Given the description of an element on the screen output the (x, y) to click on. 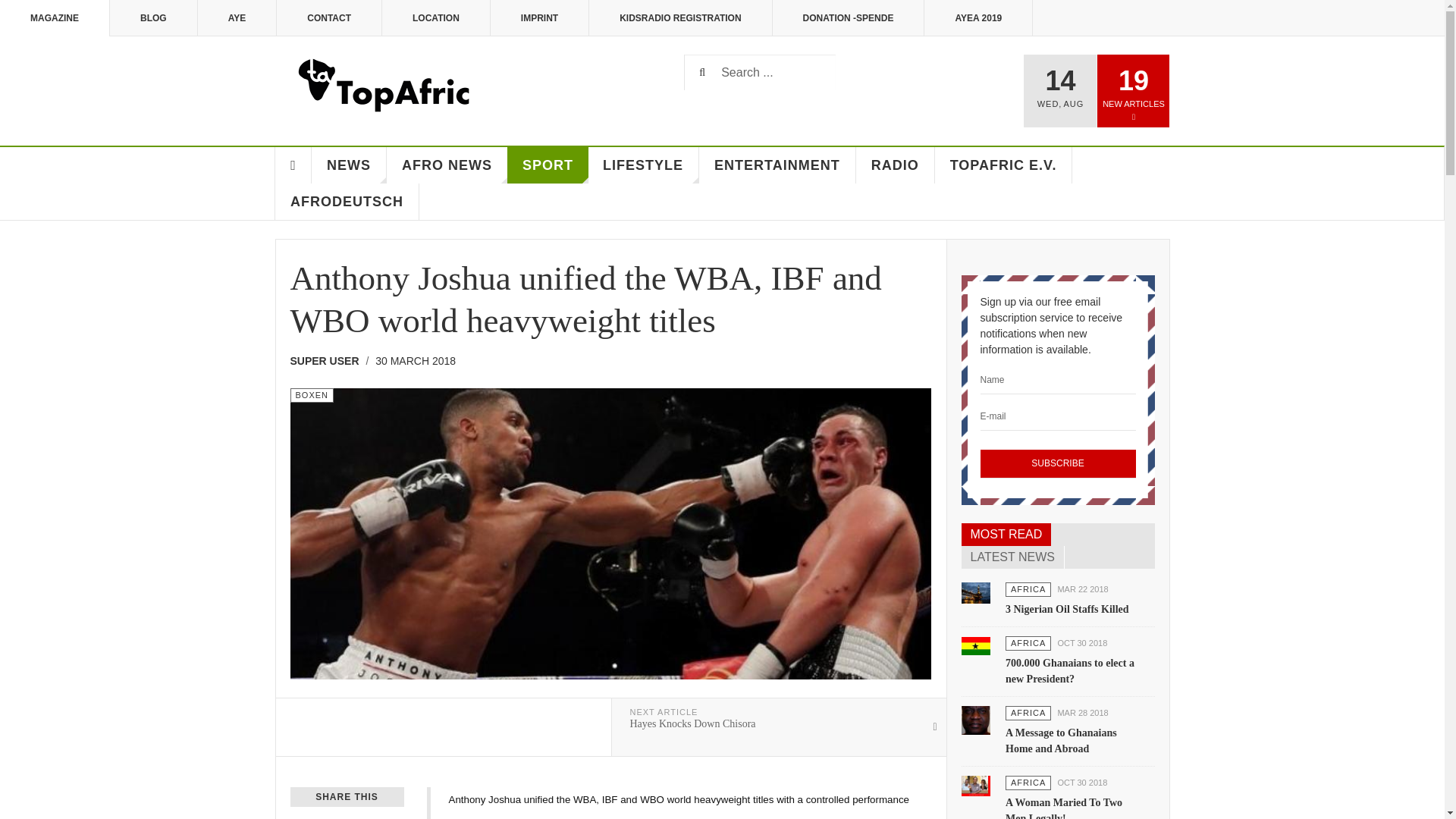
Search ... (759, 72)
BLOG (154, 18)
AYE (238, 18)
MAGAZINE (55, 18)
DONATION -SPENDE (848, 18)
Search ... (759, 72)
Name (1057, 379)
NEWS (349, 165)
E-mail (1057, 416)
KIDSRADIO REGISTRATION (680, 18)
